Given the description of an element on the screen output the (x, y) to click on. 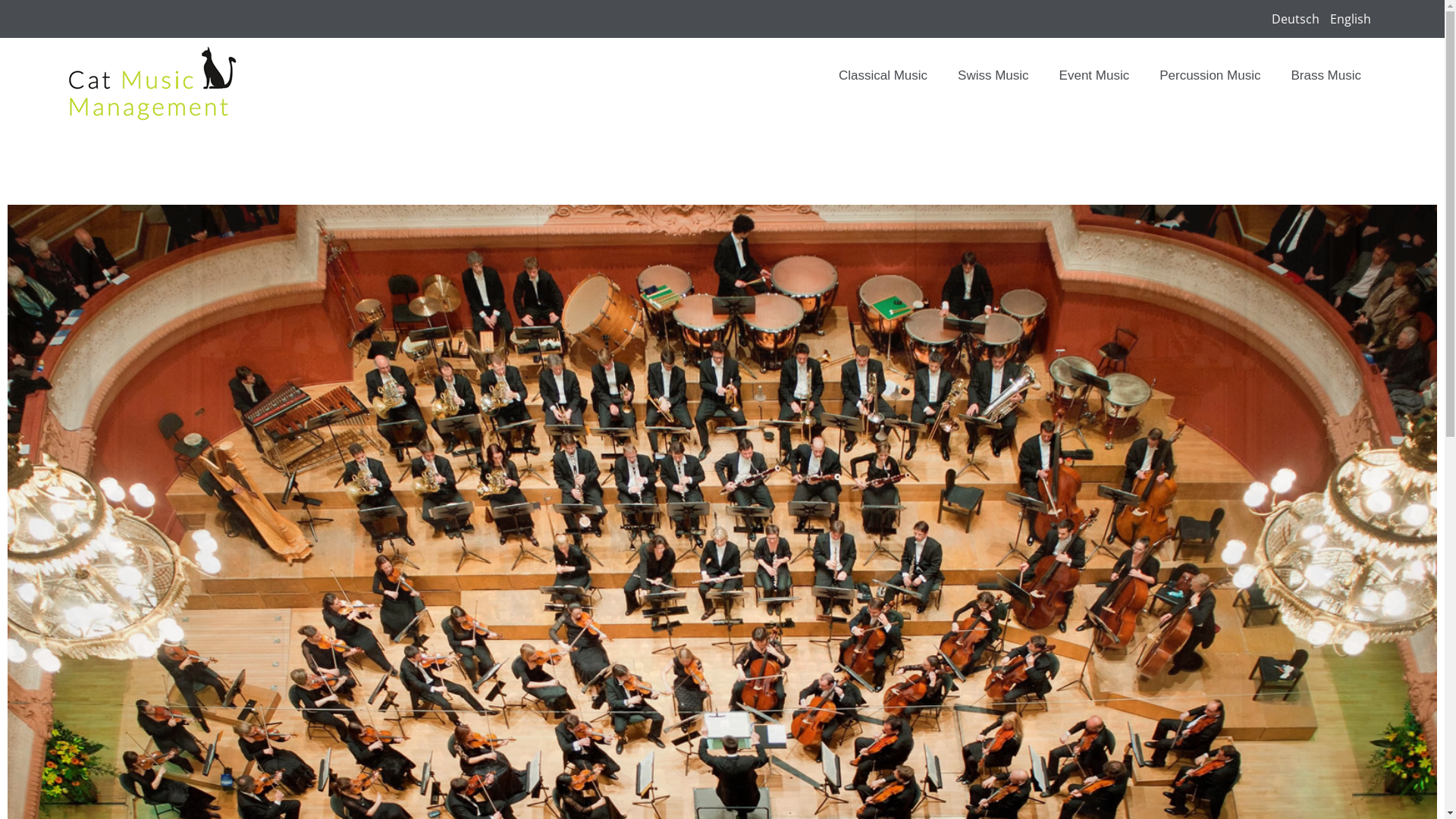
Swiss Music Element type: text (993, 75)
Deutsch Element type: text (1295, 18)
Event Music Element type: text (1094, 75)
Brass Music Element type: text (1325, 75)
English Element type: text (1350, 18)
Classical Music Element type: text (882, 75)
Percussion Music Element type: text (1209, 75)
